Given the description of an element on the screen output the (x, y) to click on. 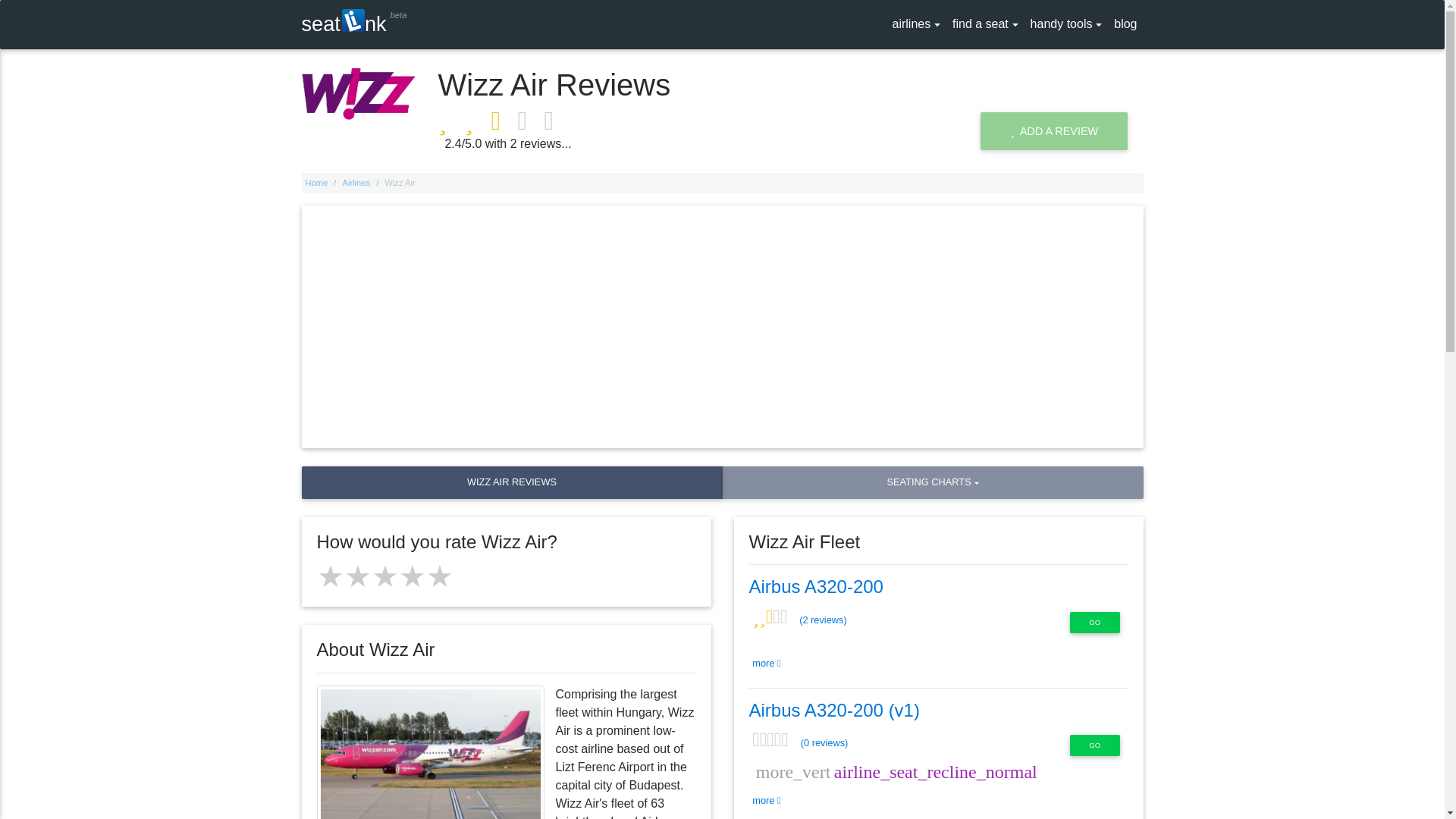
Wizz Air Airbus A320 Seat Map (816, 586)
airlines (914, 24)
Advertisement (344, 24)
